Given the description of an element on the screen output the (x, y) to click on. 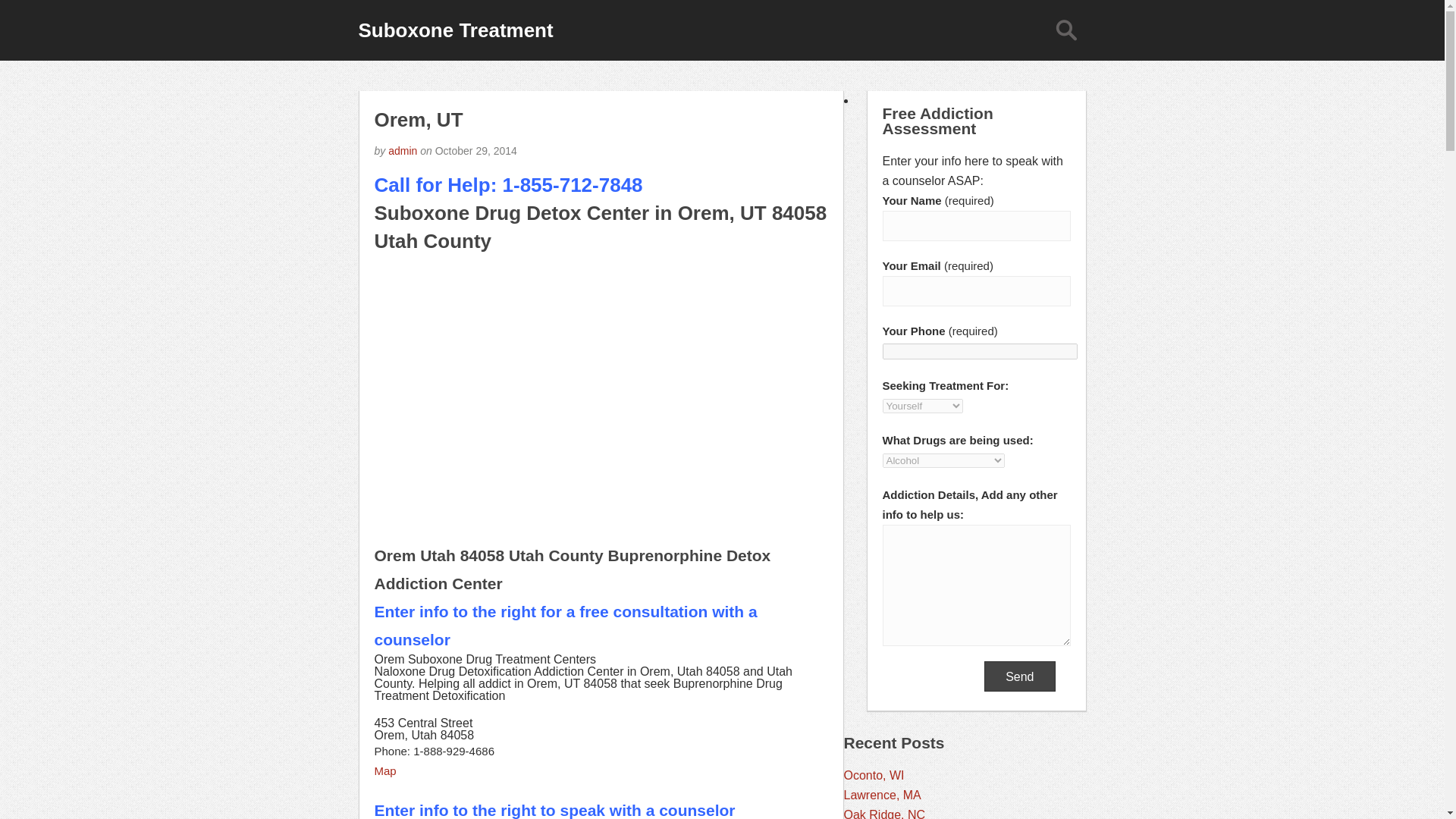
Send (1019, 675)
Oak Ridge, NC (883, 813)
Posts by admin (402, 150)
Lawrence, MA (881, 794)
Suboxone Treatment (455, 29)
Send (1019, 675)
Search (1065, 30)
Map (385, 770)
Search (1065, 30)
Suboxone Treatment (455, 29)
